Given the description of an element on the screen output the (x, y) to click on. 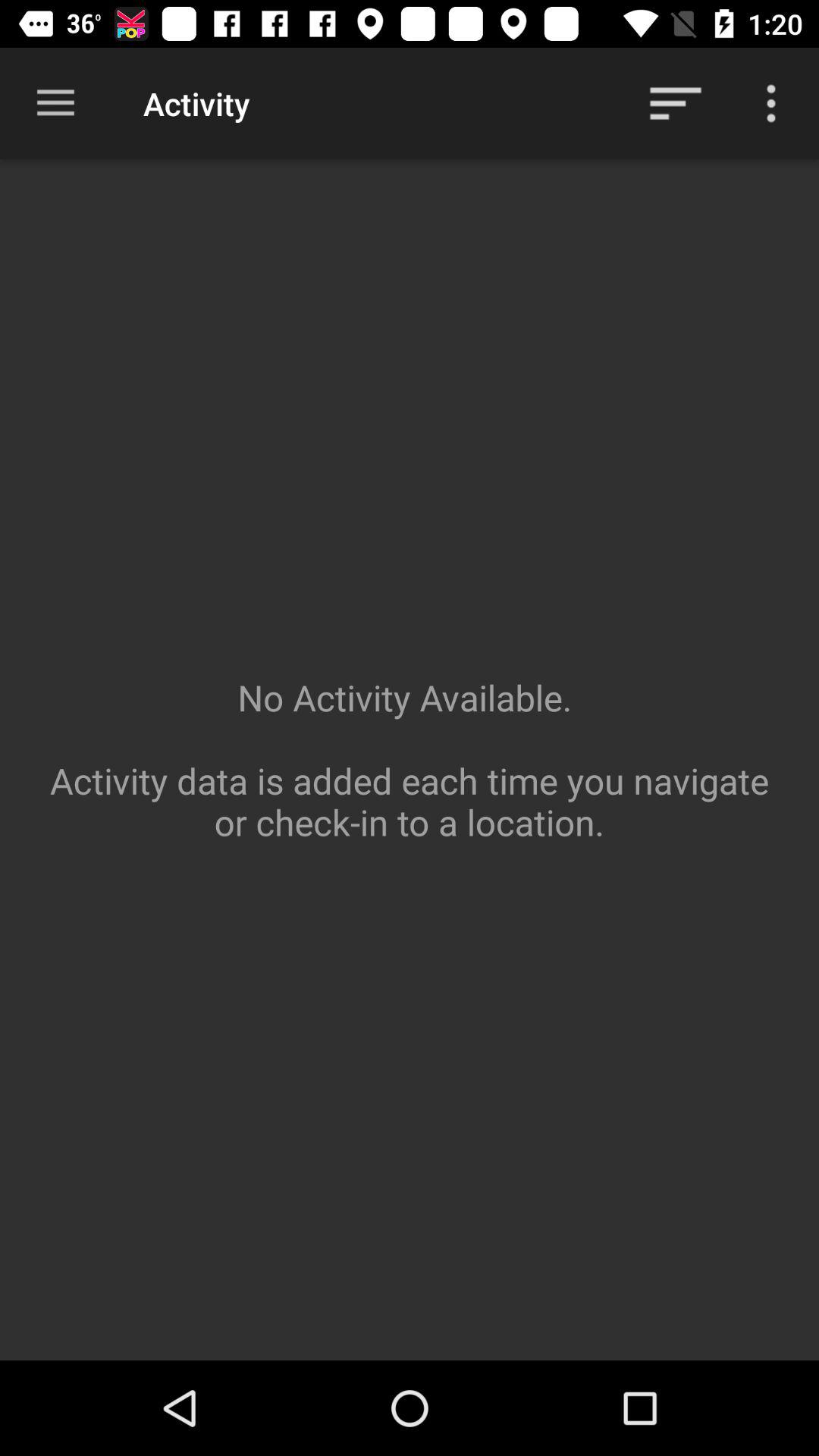
select the icon above the no activity available icon (675, 103)
